Given the description of an element on the screen output the (x, y) to click on. 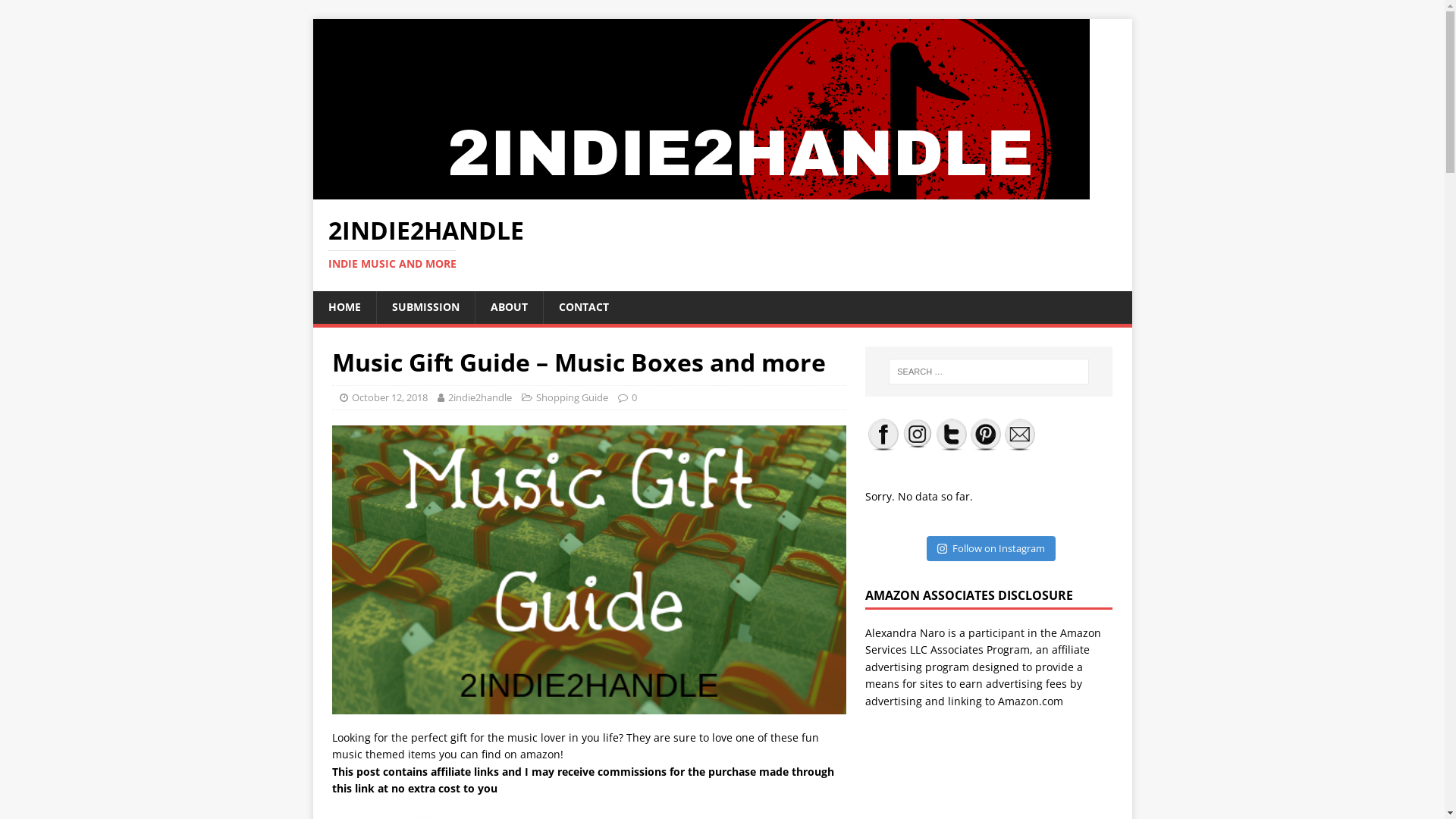
Pinterest Element type: hover (985, 433)
Search Element type: text (56, 11)
2Indie2Handle Element type: hover (700, 190)
CONTACT Element type: text (583, 307)
Instagram Element type: hover (917, 433)
October 12, 2018 Element type: text (389, 397)
0 Element type: text (633, 397)
2indie2handle Element type: text (479, 397)
Shopping Guide Element type: text (571, 397)
Follow by Email Element type: hover (1019, 433)
SUBMISSION Element type: text (425, 307)
Follow on Instagram Element type: text (990, 548)
ABOUT Element type: text (508, 307)
Facebook Element type: hover (883, 433)
HOME Element type: text (343, 307)
2INDIE2HANDLE
INDIE MUSIC AND MORE Element type: text (721, 244)
green new gift Element type: hover (589, 569)
Twitter Element type: hover (951, 433)
